Given the description of an element on the screen output the (x, y) to click on. 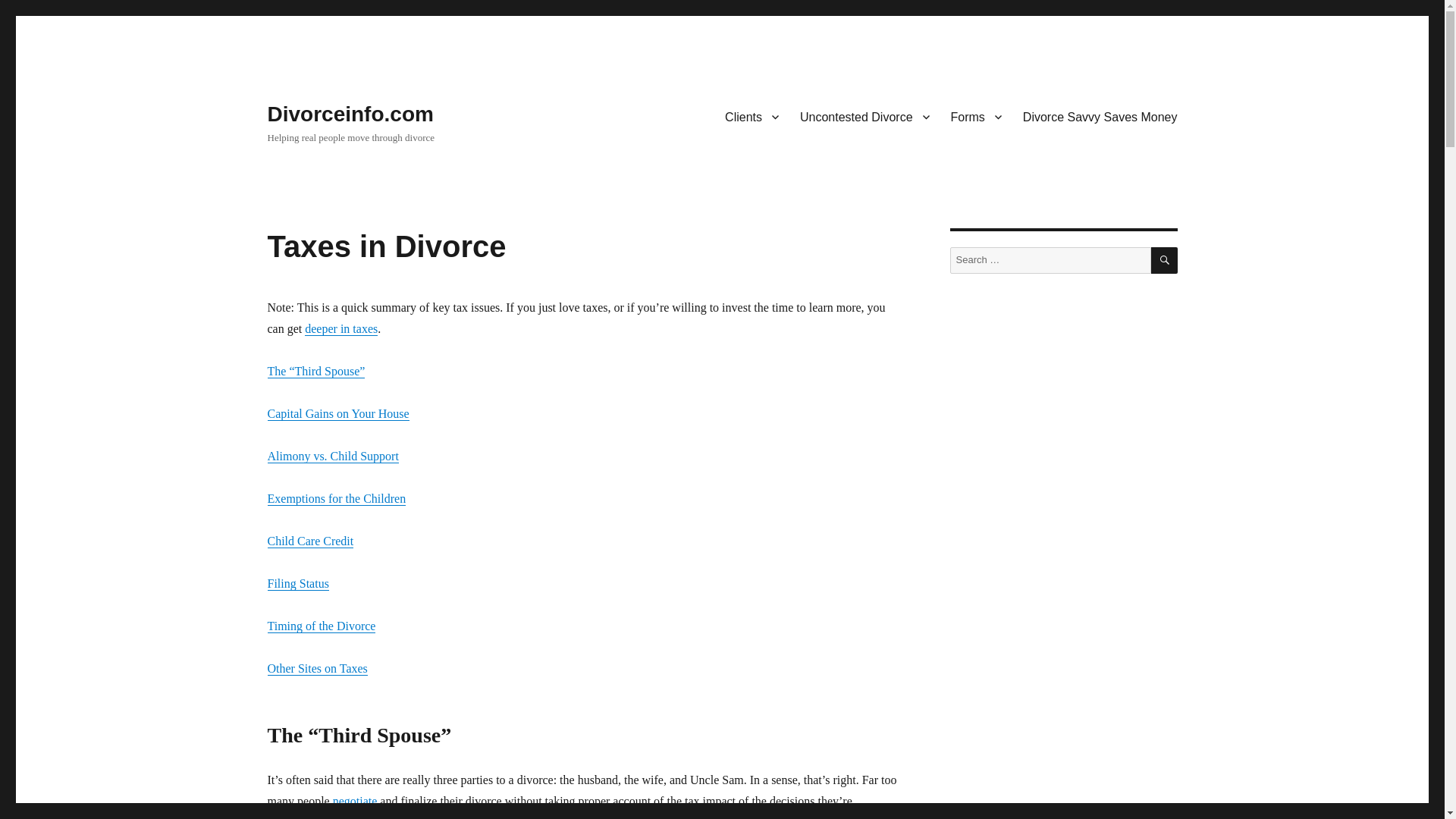
deeper in taxes (340, 328)
Filing Status (297, 583)
negotiate (355, 800)
Forms (975, 116)
Capital Gains on Your House (337, 413)
Uncontested Divorce (864, 116)
Clients (751, 116)
Exemptions for the Children (336, 498)
Child Care Credit (309, 540)
Other Sites on Taxes (316, 667)
